Given the description of an element on the screen output the (x, y) to click on. 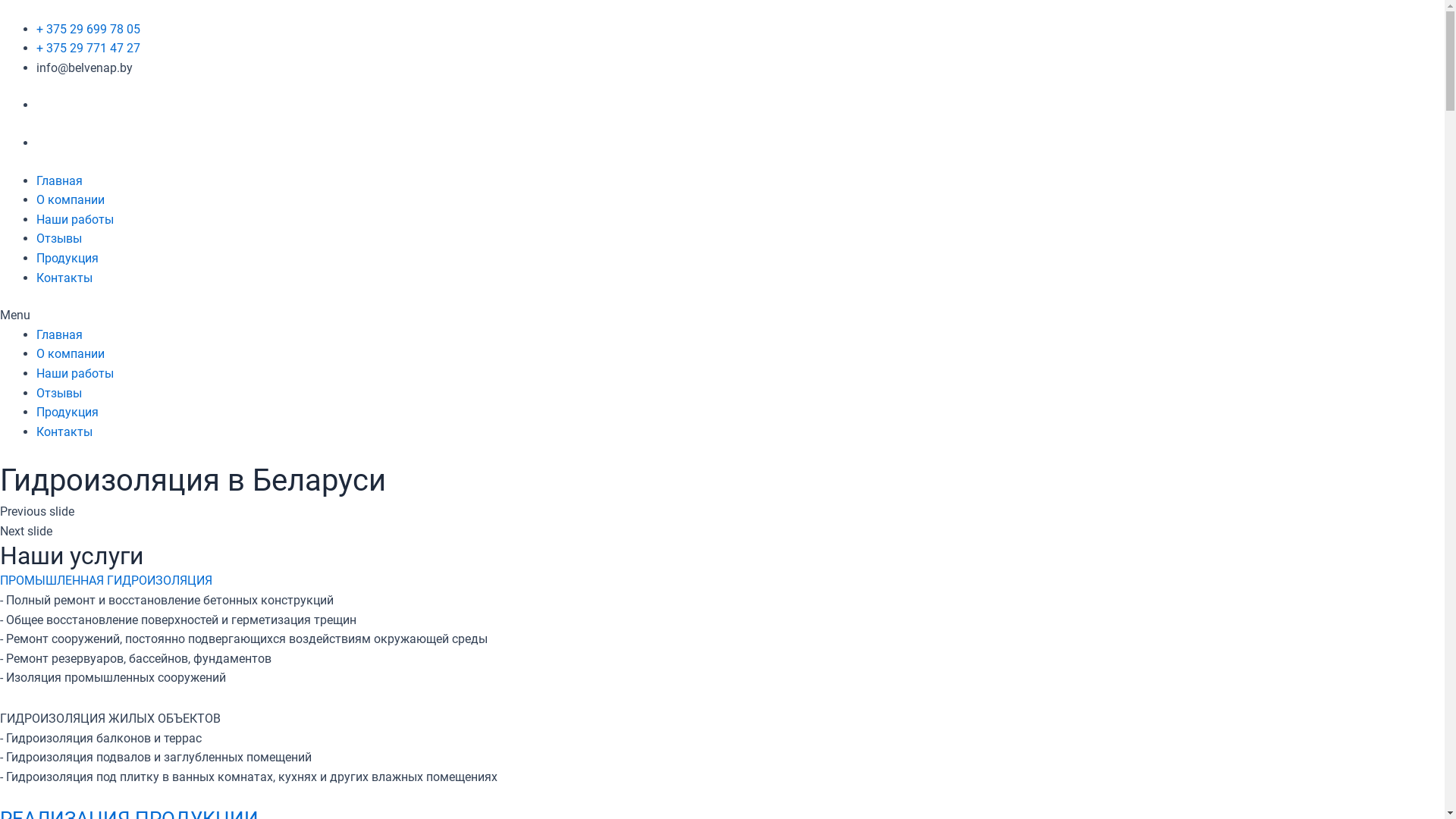
+ 375 29 699 78 05 Element type: text (88, 28)
+ 375 29 771 47 27 Element type: text (88, 47)
